Given the description of an element on the screen output the (x, y) to click on. 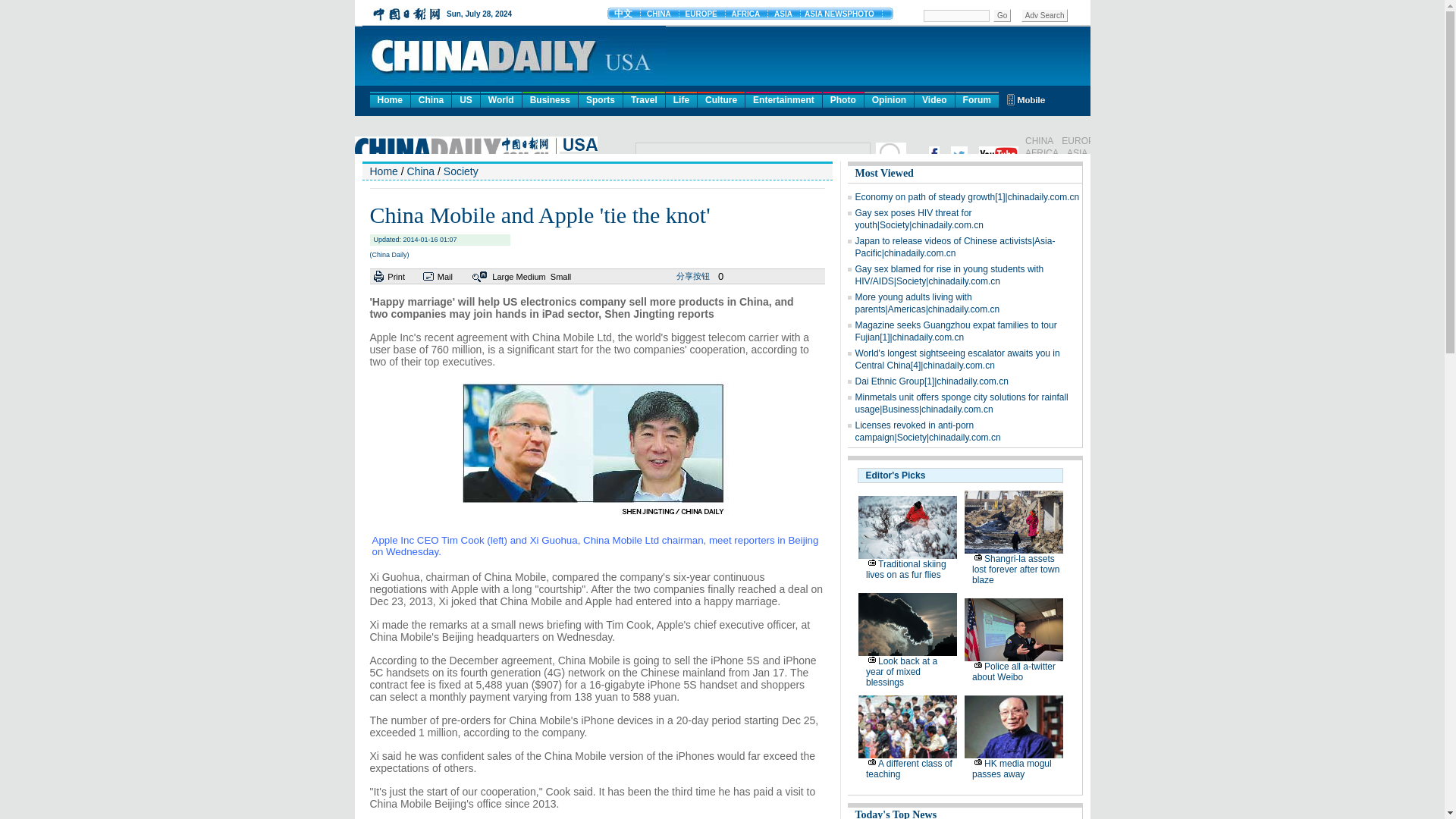
World (500, 99)
US (465, 99)
Travel (644, 99)
Sports (600, 99)
Home (389, 99)
Business (550, 99)
China (430, 99)
